Given the description of an element on the screen output the (x, y) to click on. 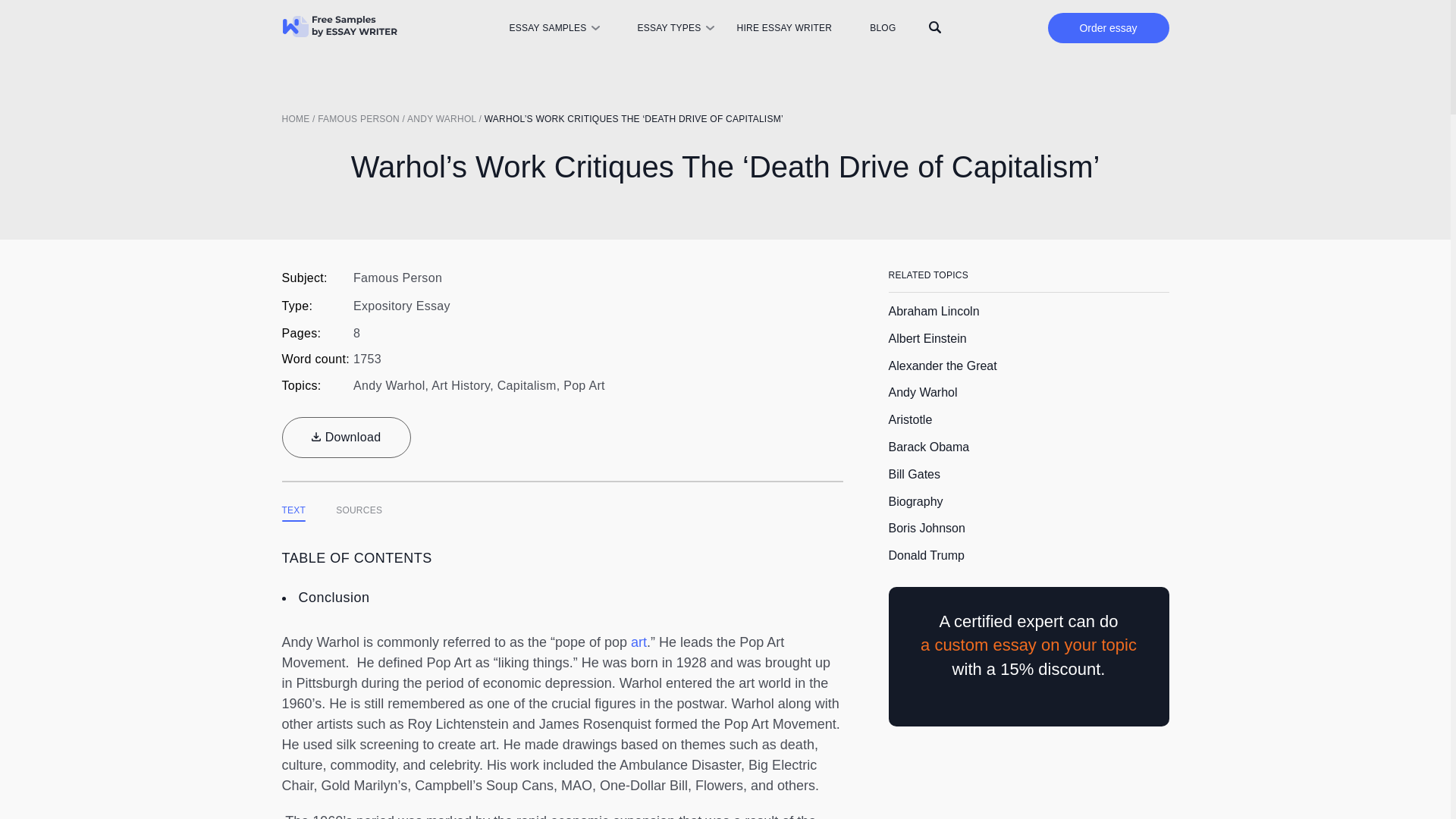
Conclusion (333, 597)
ESSAY SAMPLES (545, 28)
ESSAY TYPES (668, 28)
